Given the description of an element on the screen output the (x, y) to click on. 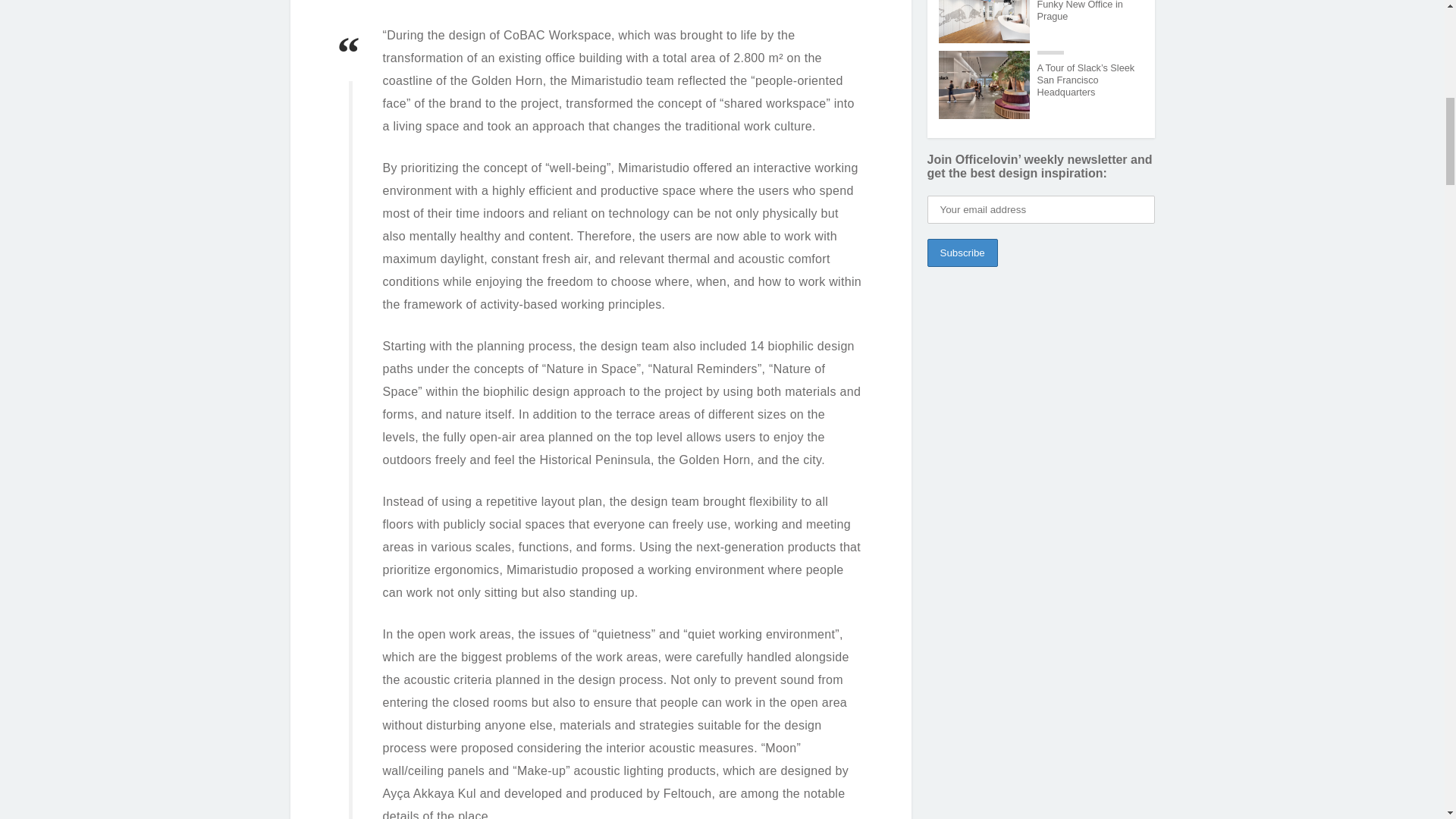
Subscribe (961, 252)
